Given the description of an element on the screen output the (x, y) to click on. 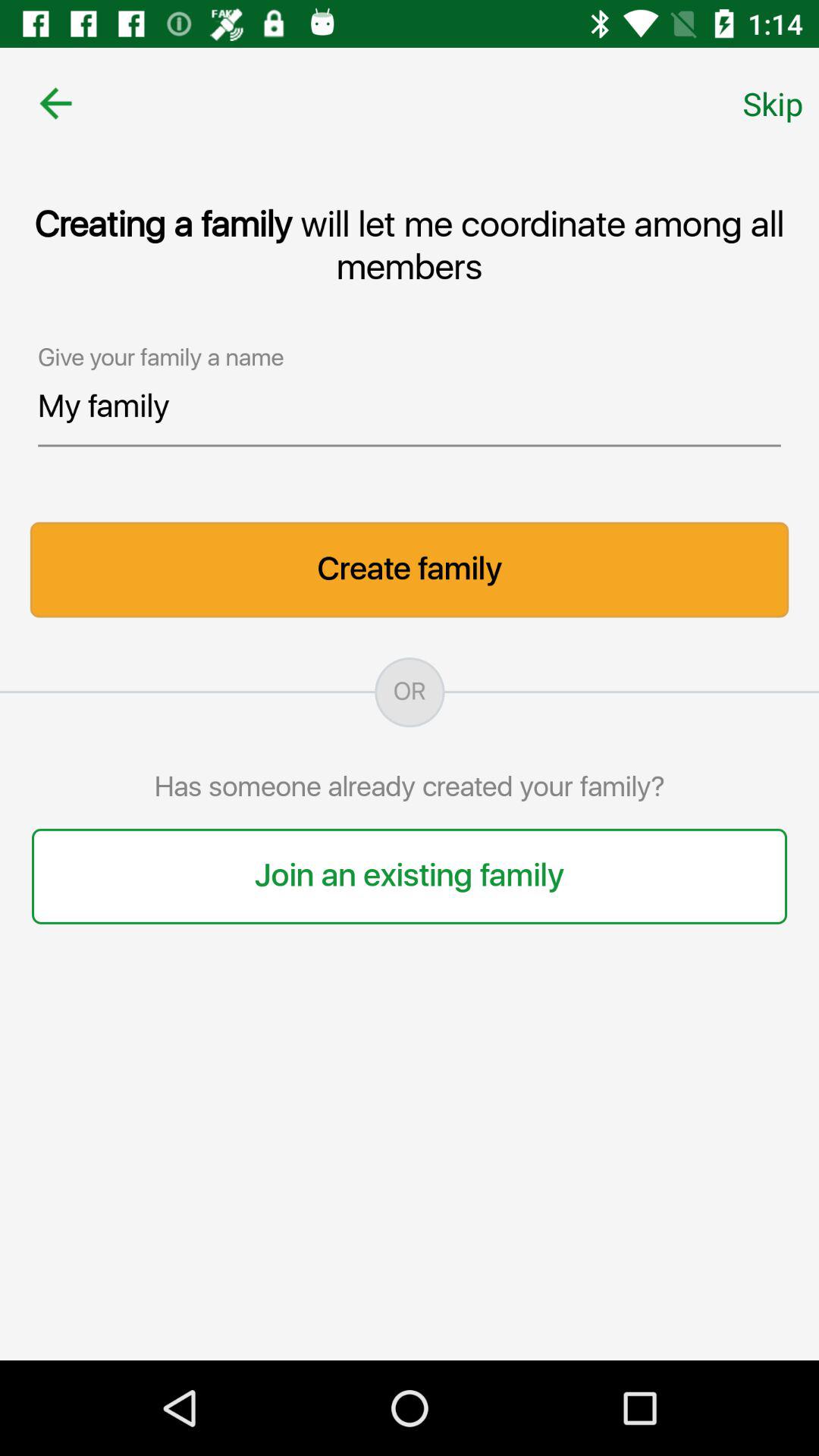
swipe to has someone already (409, 787)
